Given the description of an element on the screen output the (x, y) to click on. 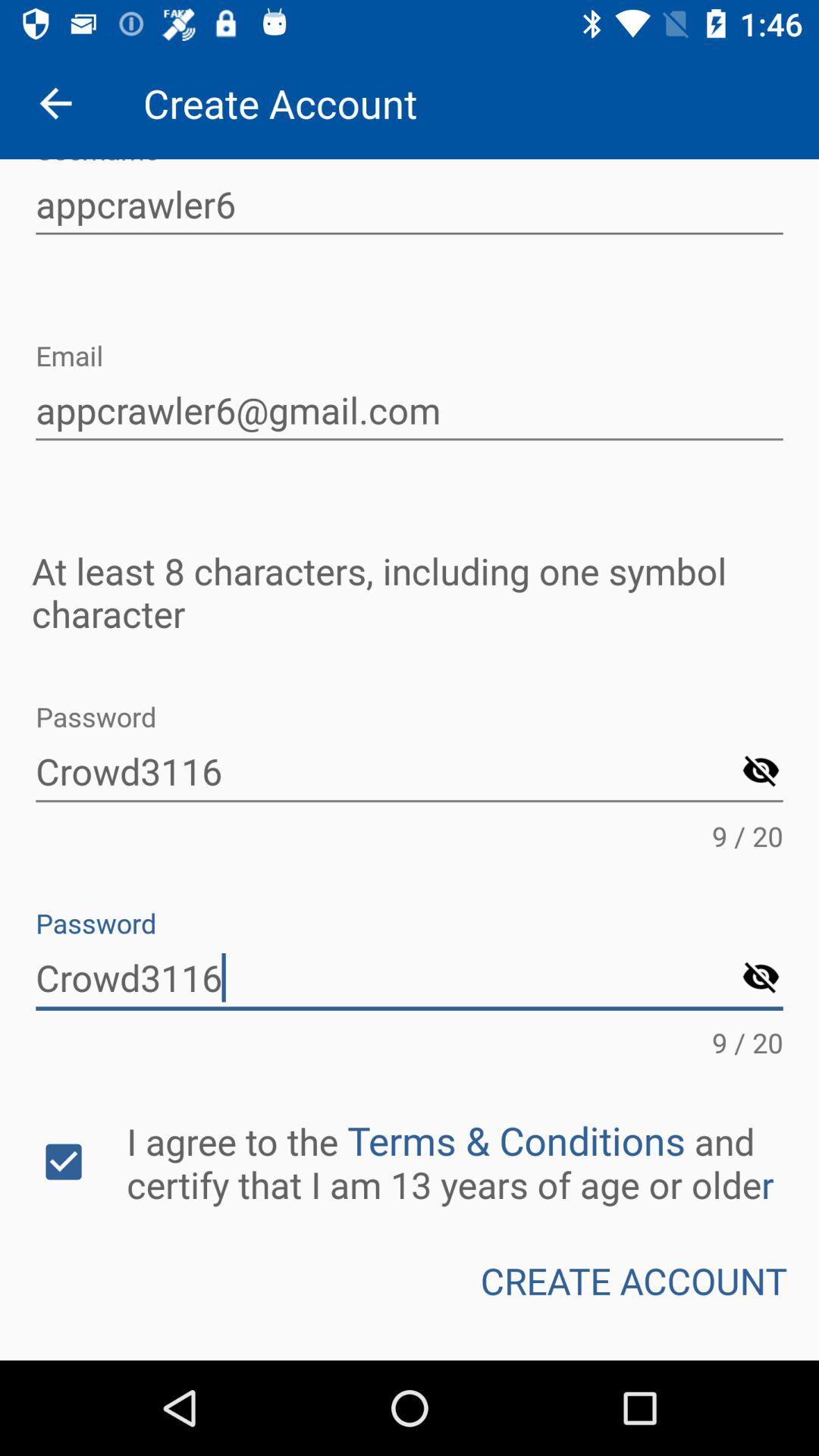
go to next (761, 771)
